Given the description of an element on the screen output the (x, y) to click on. 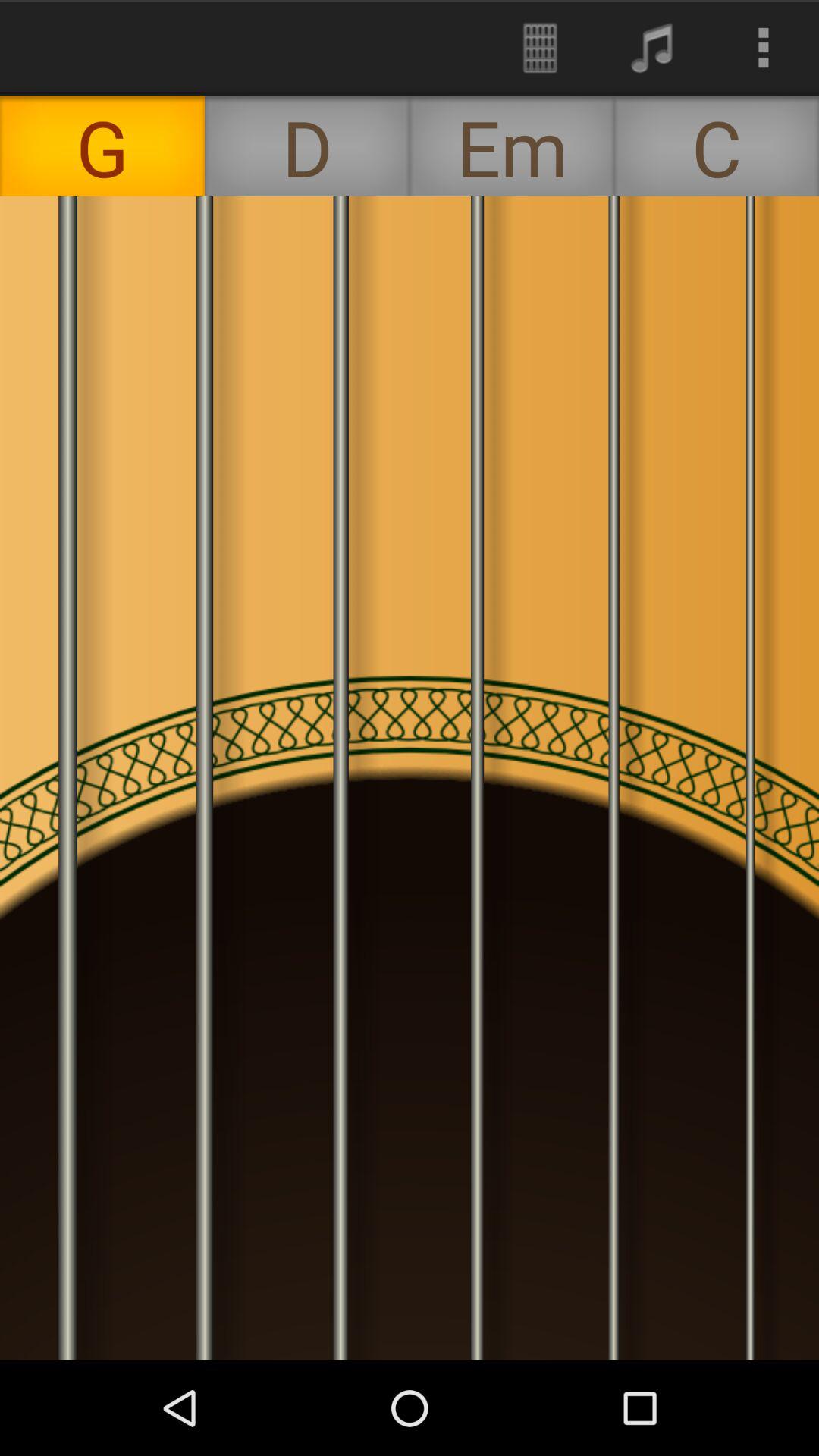
swipe until the c (716, 145)
